Given the description of an element on the screen output the (x, y) to click on. 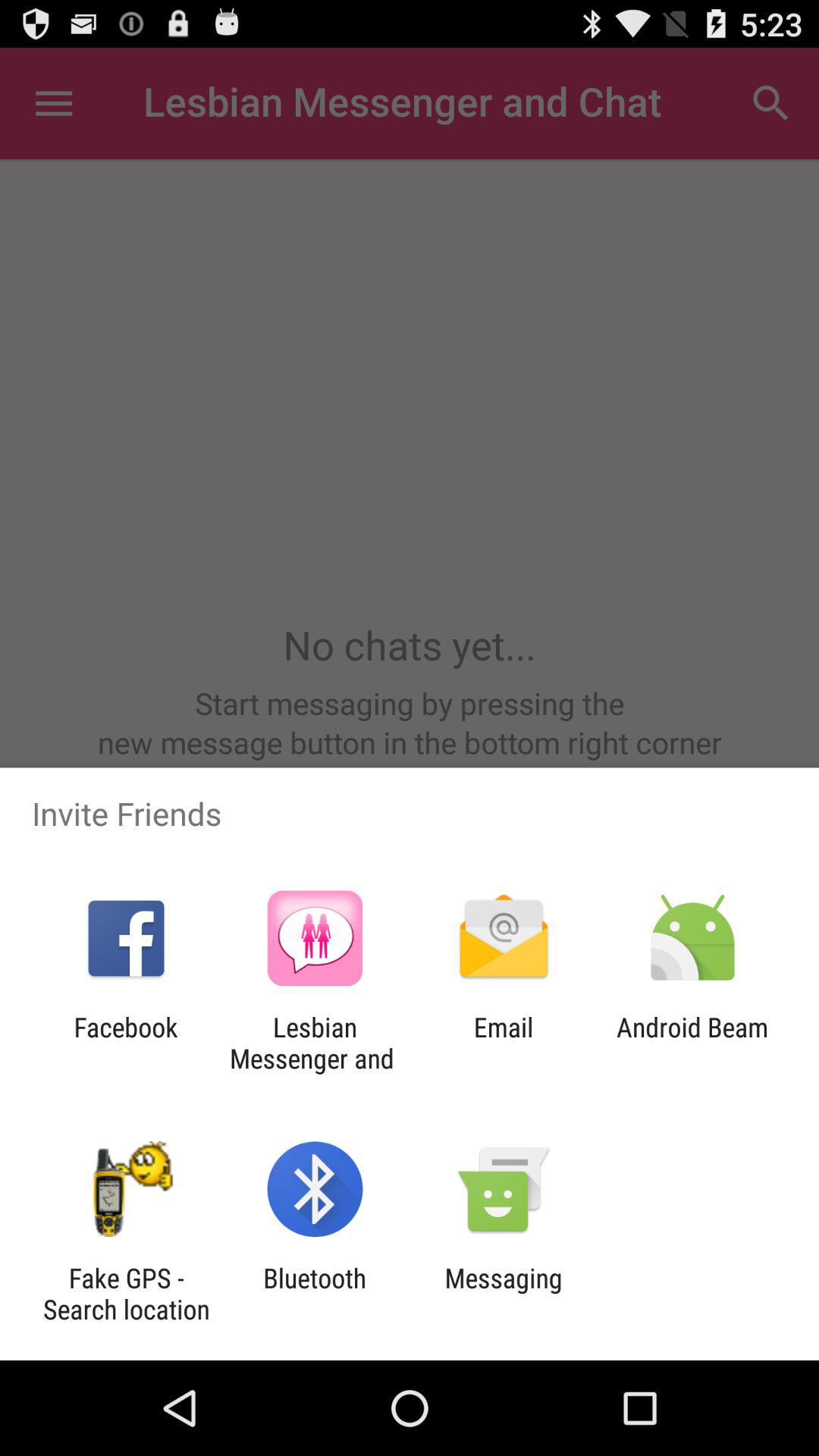
select the icon to the left of the android beam item (503, 1042)
